Given the description of an element on the screen output the (x, y) to click on. 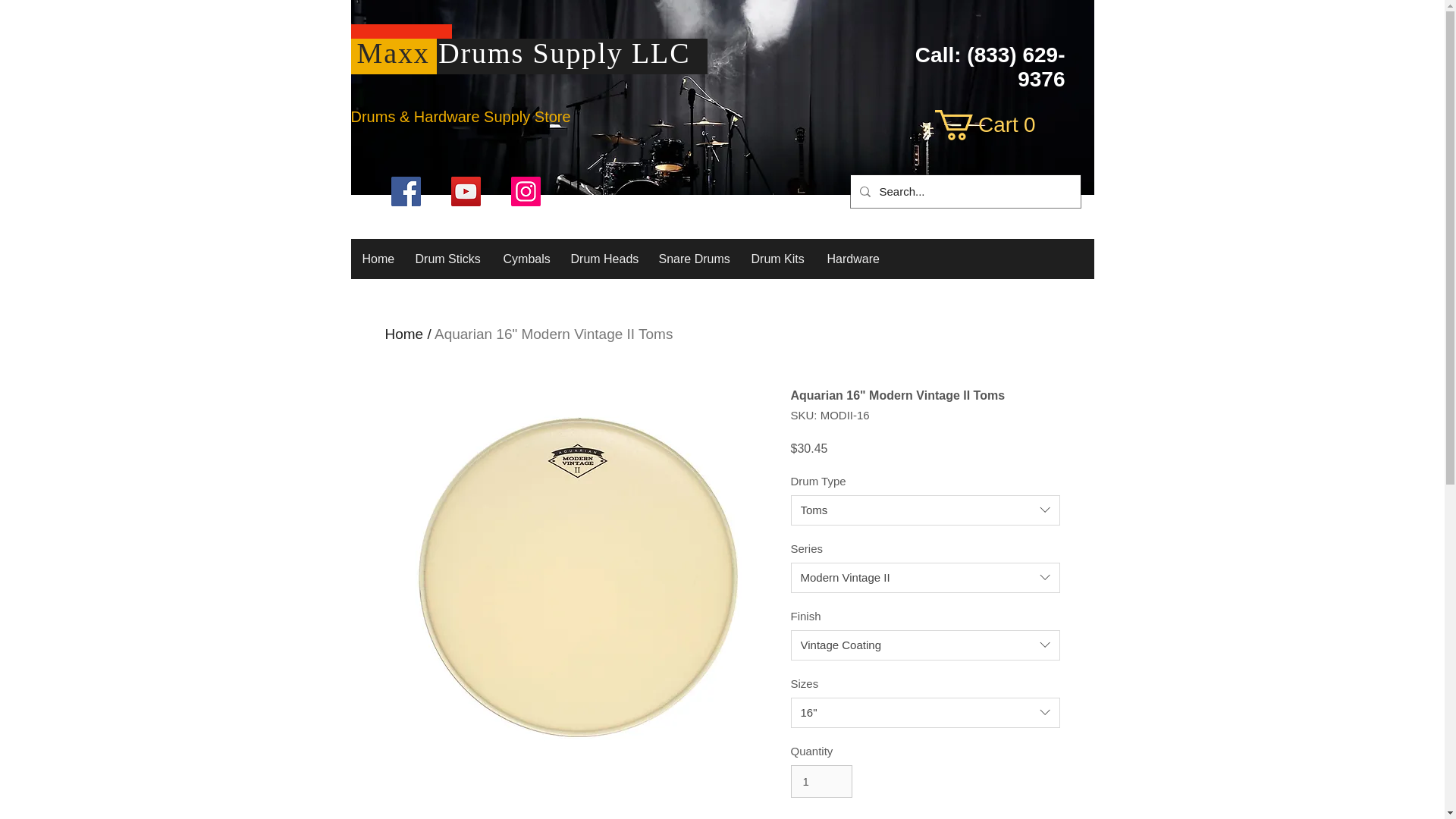
Home (376, 259)
Modern Vintage II (924, 577)
Toms (990, 124)
Aquarian 16" Modern Vintage II Toms (924, 510)
16" (552, 333)
Vintage Coating (990, 124)
Home (924, 712)
Maxx Drums Supply LLC  (924, 644)
